Given the description of an element on the screen output the (x, y) to click on. 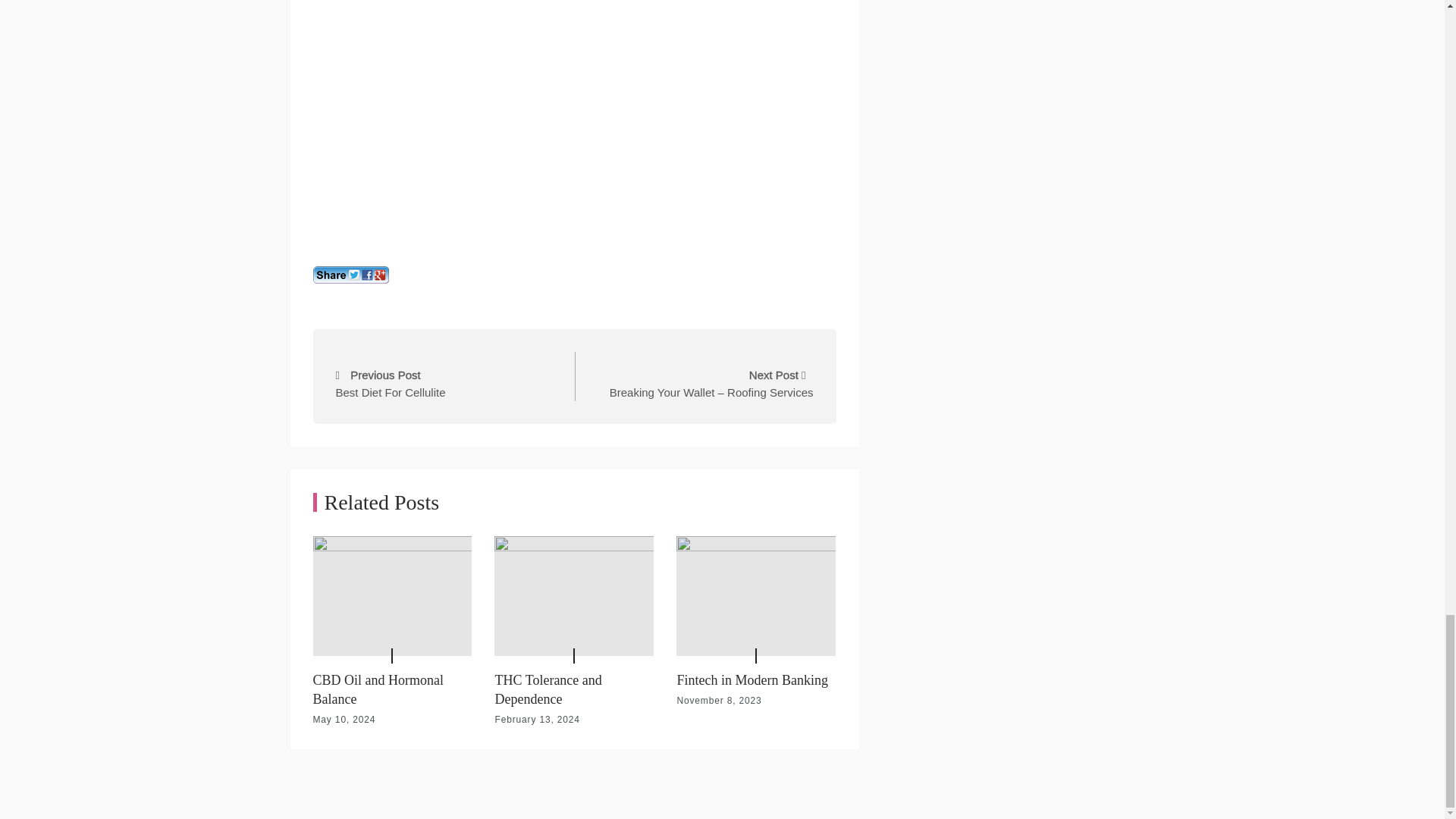
THC Tolerance and Dependence (548, 689)
YouTube video player (448, 376)
Fintech in Modern Banking (574, 126)
CBD Oil and Hormonal Balance (752, 679)
